Given the description of an element on the screen output the (x, y) to click on. 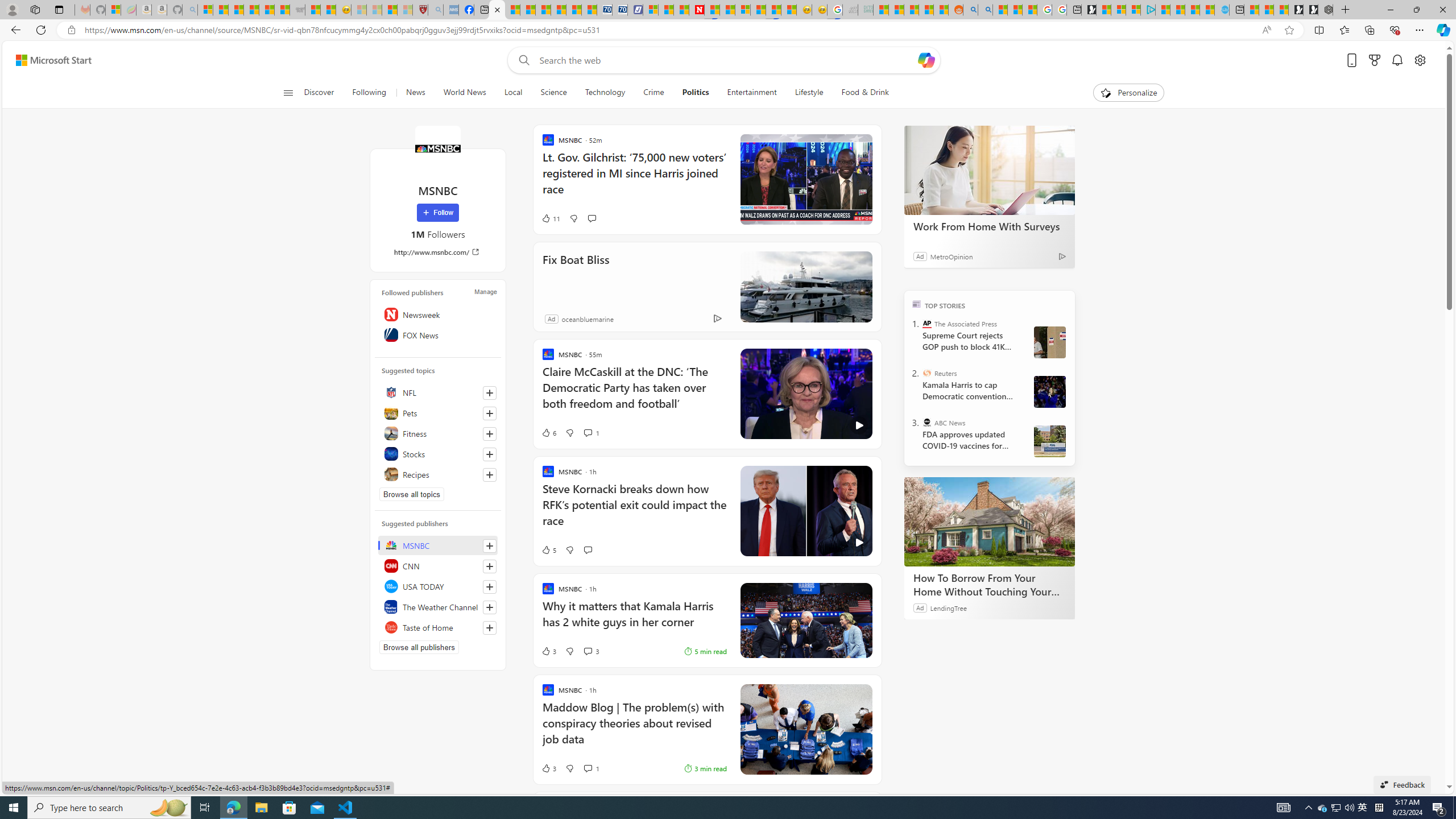
MSN (773, 9)
oceanbluemarine (587, 318)
Stocks (437, 453)
CNN (437, 565)
Pets (437, 412)
App bar (728, 29)
How To Borrow From Your Home Without Touching Your Mortgage (988, 584)
View comments 1 Comment (587, 768)
How To Borrow From Your Home Without Touching Your Mortgage (989, 521)
Ad Choice (717, 318)
